Given the description of an element on the screen output the (x, y) to click on. 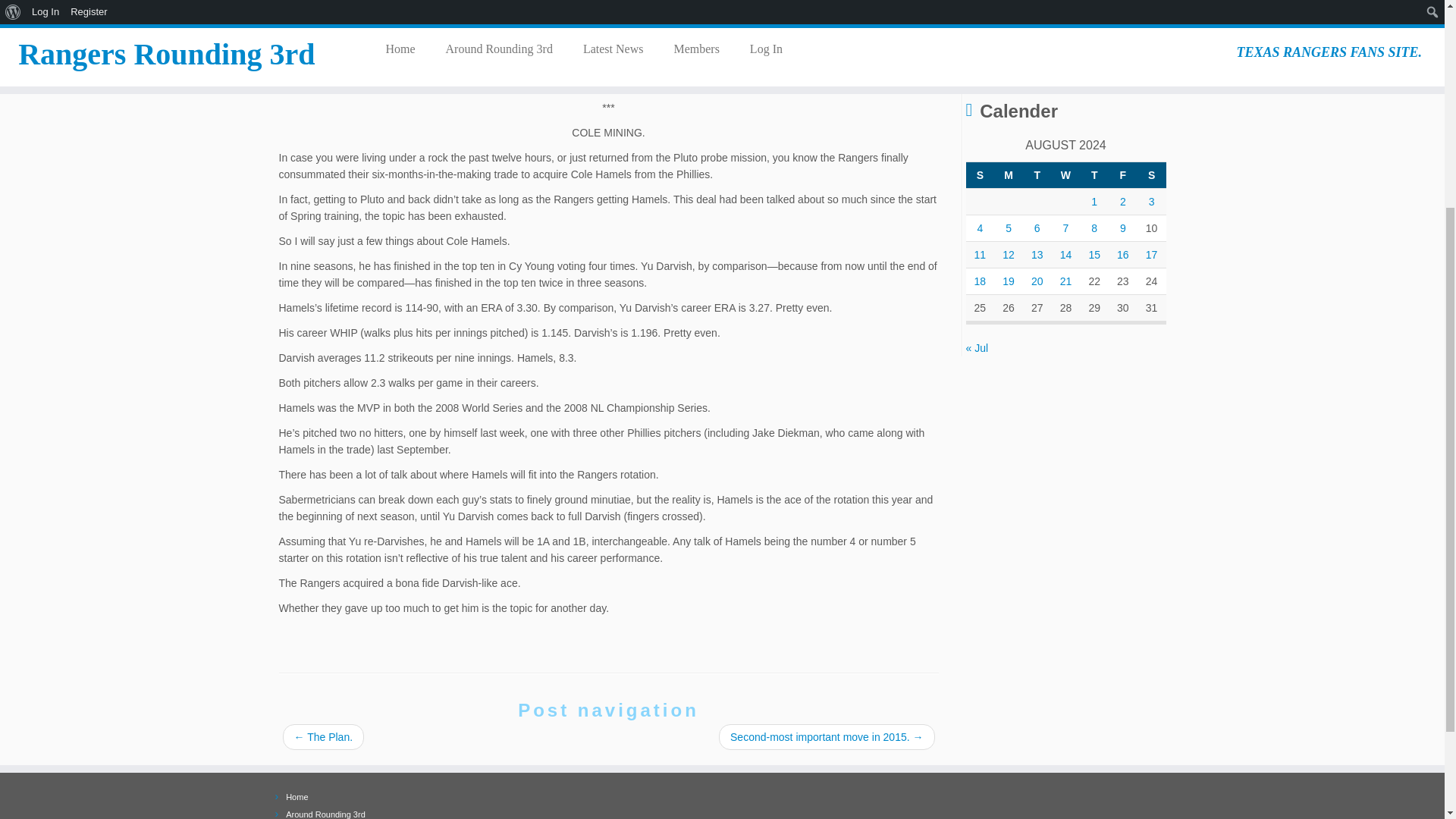
Wednesday (1065, 174)
11 (980, 254)
Home Page (296, 796)
Infield of the future. (1060, 3)
Infield of the future. (1077, 78)
Tuesday (1037, 174)
Infield of the future. (1099, 59)
Thursday (1094, 174)
Friday (1122, 174)
Infield of the future. (1061, 29)
